Given the description of an element on the screen output the (x, y) to click on. 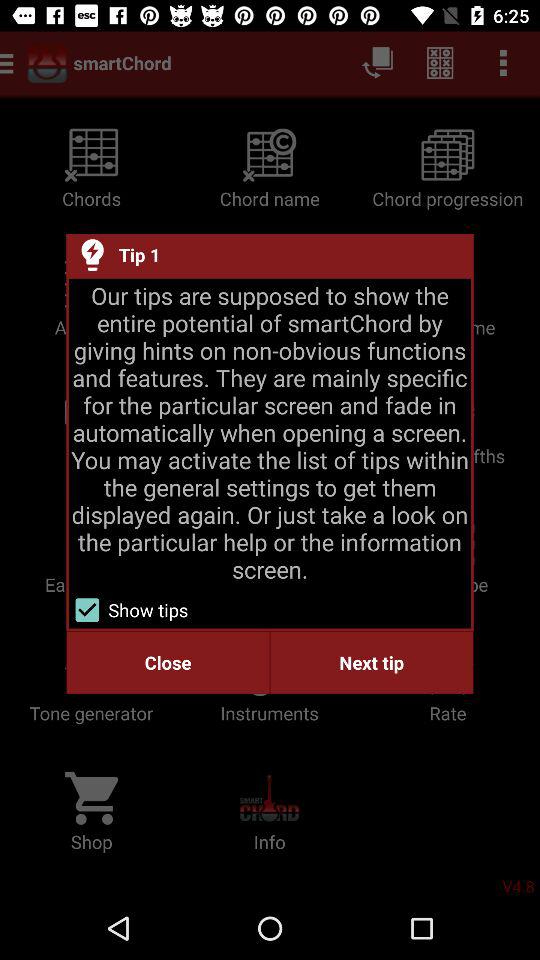
press the next tip item (371, 662)
